Given the description of an element on the screen output the (x, y) to click on. 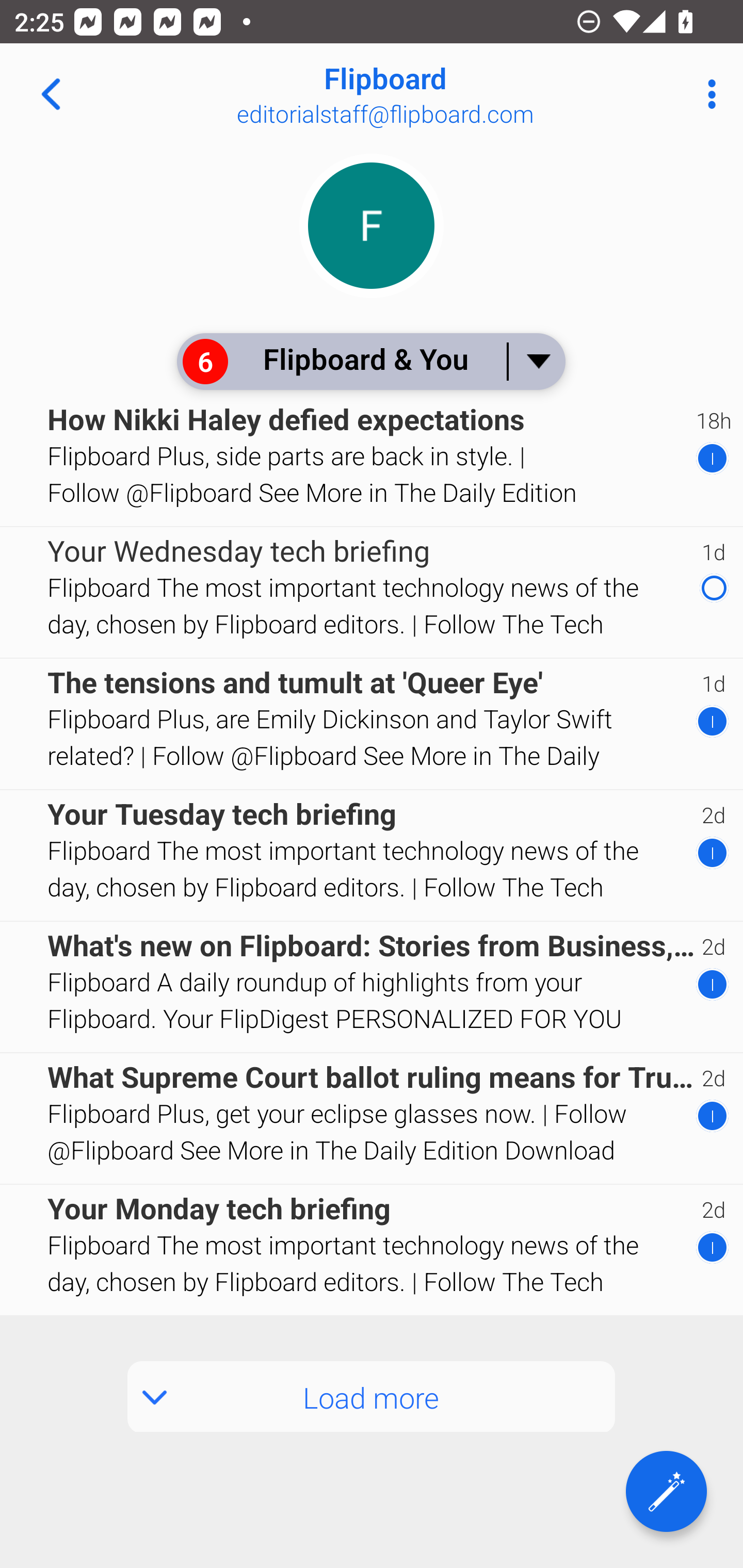
Navigate up (50, 93)
Flipboard editorialstaff@flipboard.com (436, 93)
More Options (706, 93)
6 Flipboard & You (370, 361)
Load more (371, 1396)
